Given the description of an element on the screen output the (x, y) to click on. 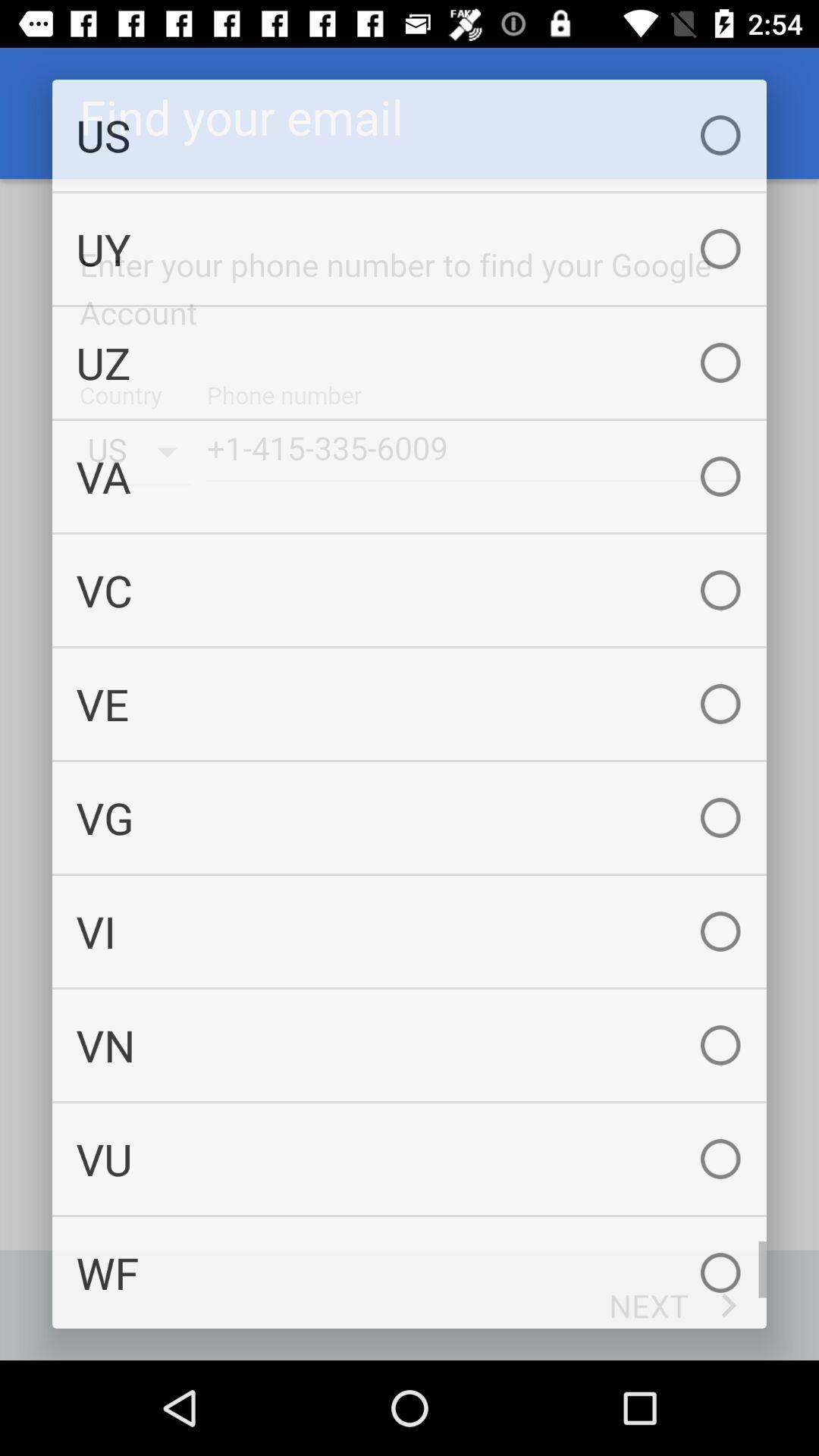
choose item below us checkbox (409, 248)
